Given the description of an element on the screen output the (x, y) to click on. 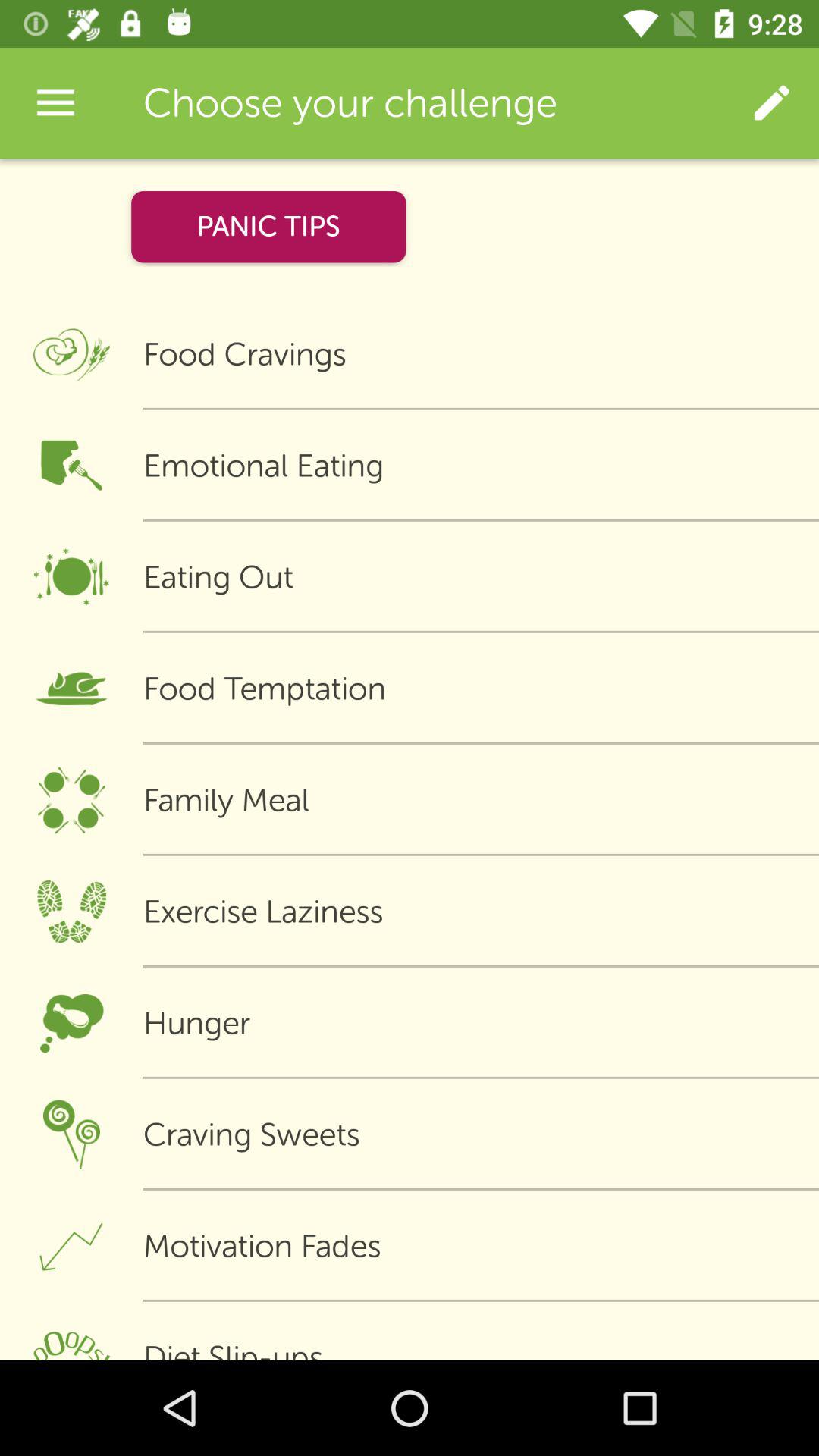
turn on the icon above the food cravings icon (771, 103)
